Given the description of an element on the screen output the (x, y) to click on. 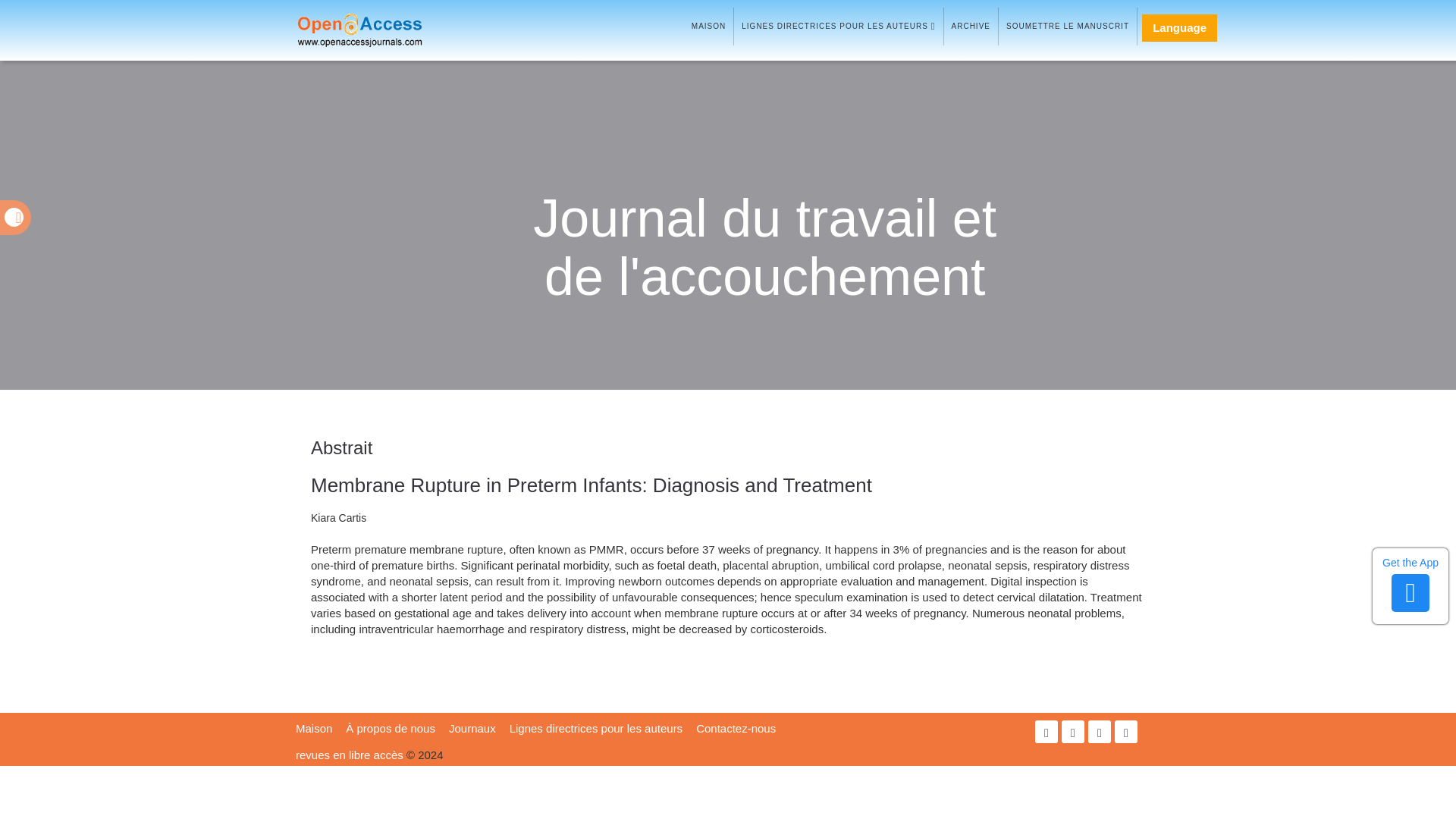
Open Access Journals (381, 30)
Cliquez ici (349, 754)
LIGNES DIRECTRICES POUR LES AUTEURS (837, 26)
ARCHIVE (970, 26)
Cliquez ici (837, 26)
Contactez-nous (735, 727)
Journaux (472, 727)
SOUMETTRE LE MANUSCRIT (1067, 26)
Language (1179, 27)
Maison (313, 727)
